Given the description of an element on the screen output the (x, y) to click on. 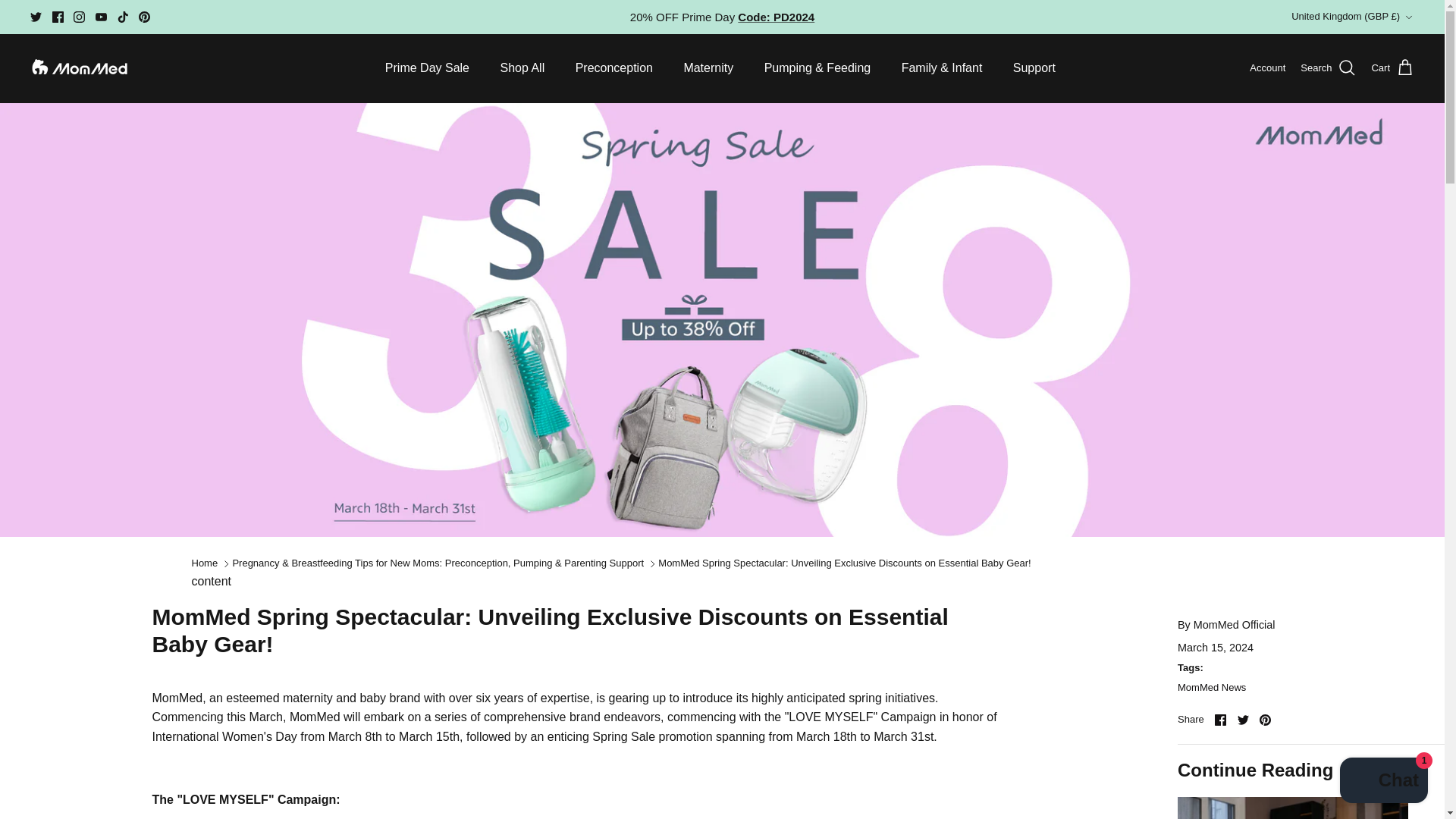
Twitter (36, 16)
Shopify online store chat (1383, 781)
Shop All (521, 68)
Code: PD2024 (775, 16)
Youtube (101, 16)
Support (1033, 68)
Show articles tagged MomMed News (1211, 686)
Maternity (707, 68)
Instagram (79, 16)
Youtube (101, 16)
Account (1267, 68)
Facebook (1219, 719)
Prime Day Sale (427, 68)
MomMed Prime Day 2024 (775, 16)
Twitter (36, 16)
